Given the description of an element on the screen output the (x, y) to click on. 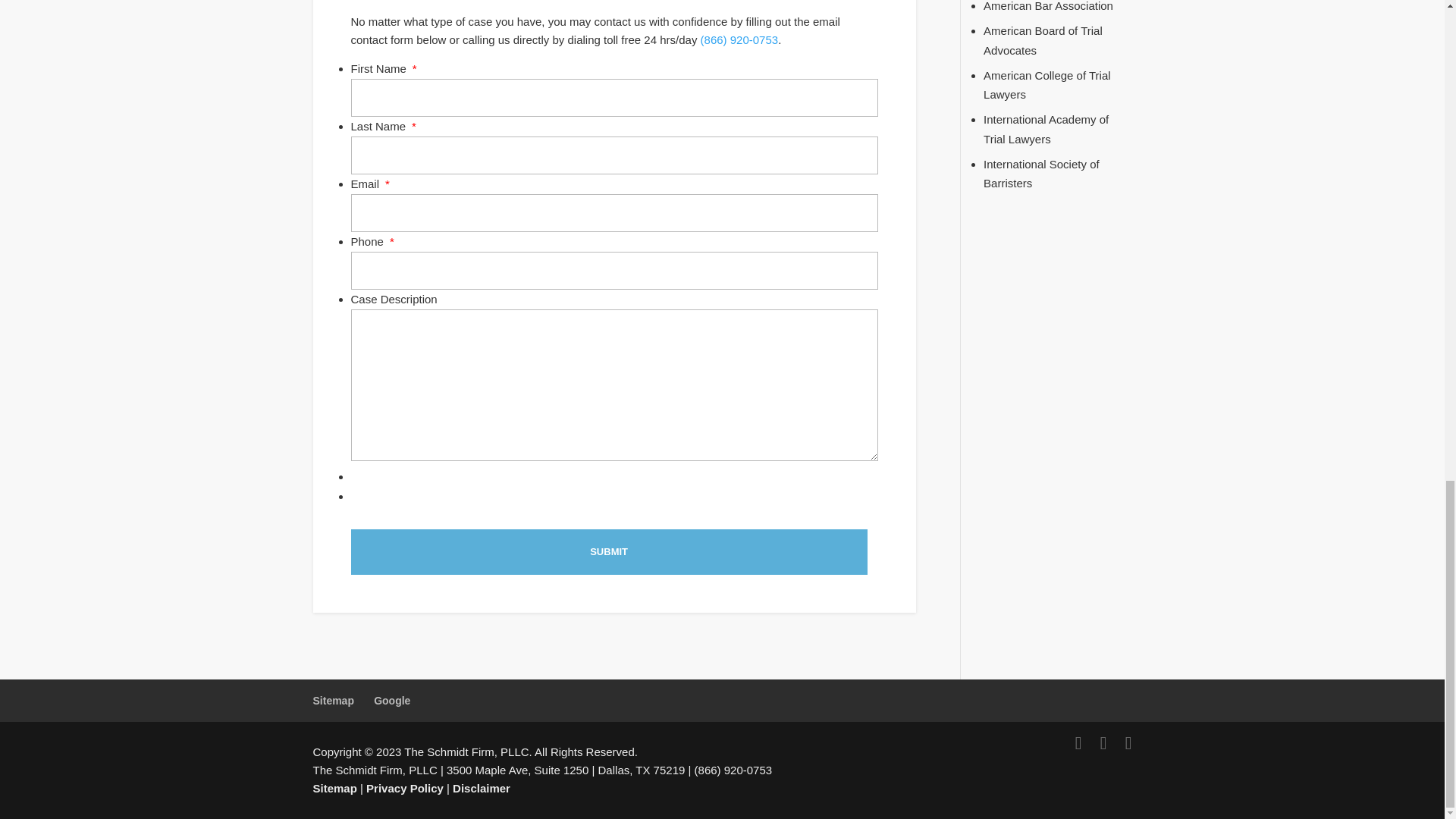
Submit (608, 551)
Submit (608, 551)
Sitemap (333, 700)
Google (392, 700)
